Given the description of an element on the screen output the (x, y) to click on. 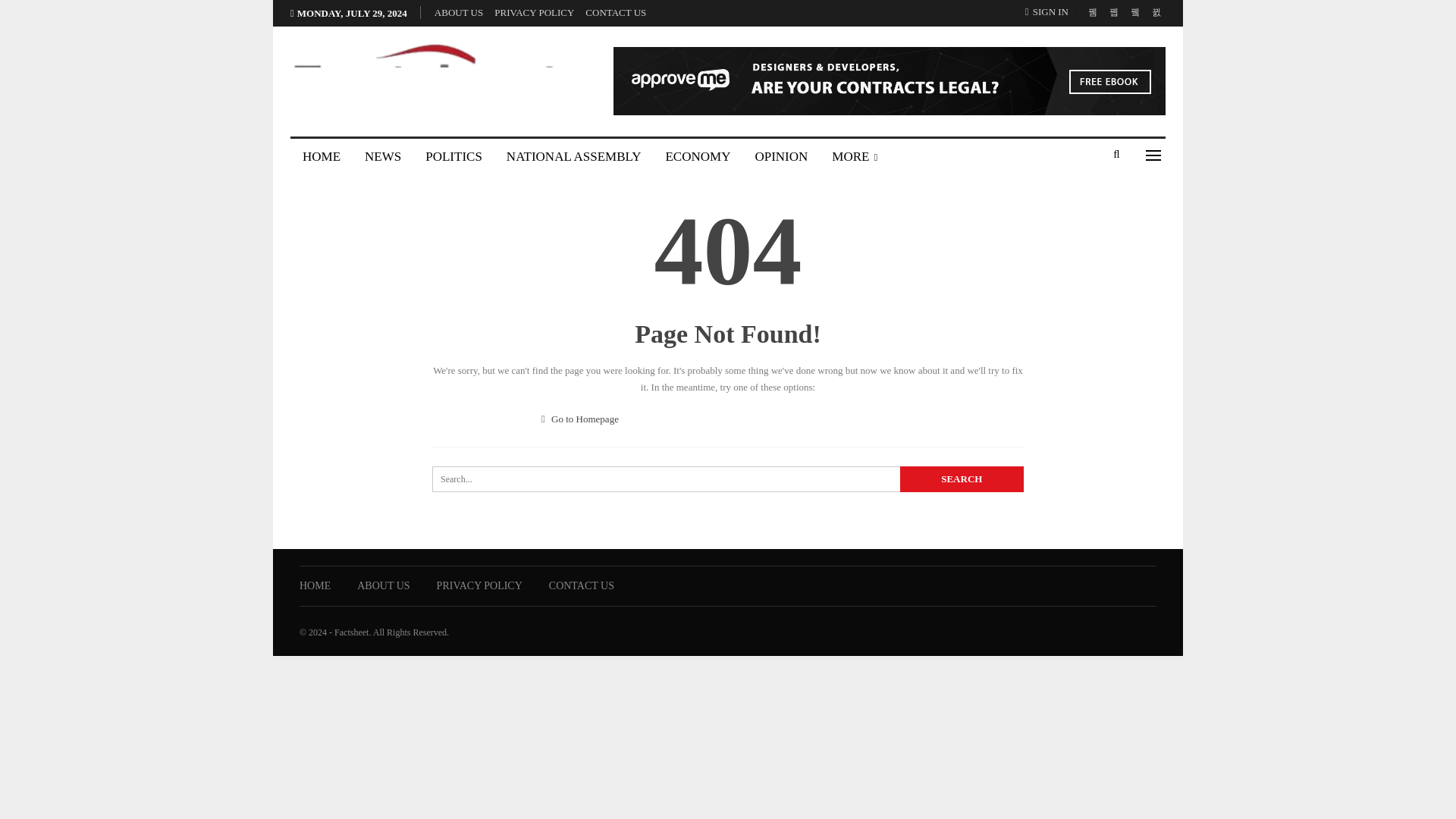
Search (961, 479)
NATIONAL ASSEMBLY (574, 156)
POLITICS (454, 156)
OPINION (780, 156)
HOME (320, 156)
HOME (314, 585)
Search (961, 479)
CONTACT US (615, 12)
NEWS (382, 156)
PRIVACY POLICY (534, 12)
Go to Homepage (579, 419)
Search (961, 479)
MORE (854, 156)
Search for: (727, 479)
ECONOMY (697, 156)
